Given the description of an element on the screen output the (x, y) to click on. 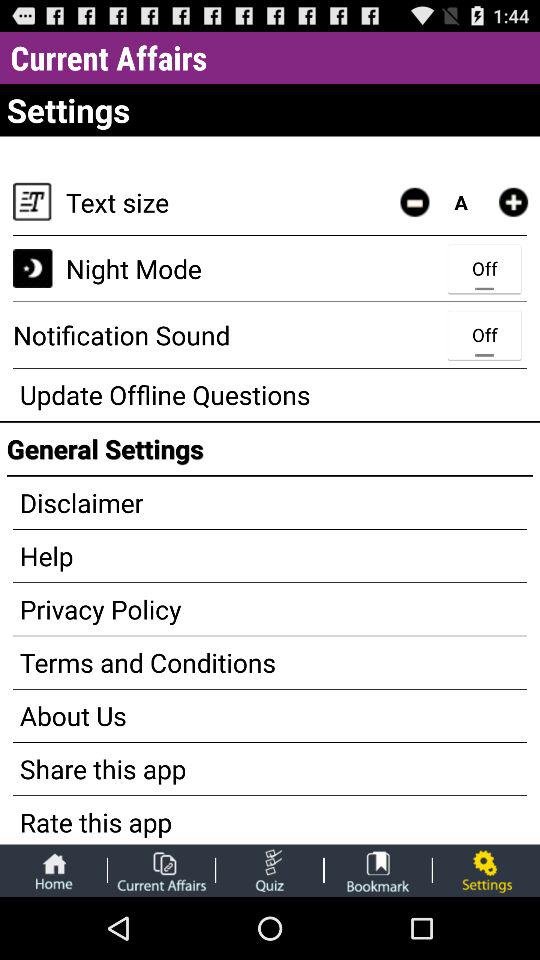
go to settings (486, 870)
